Given the description of an element on the screen output the (x, y) to click on. 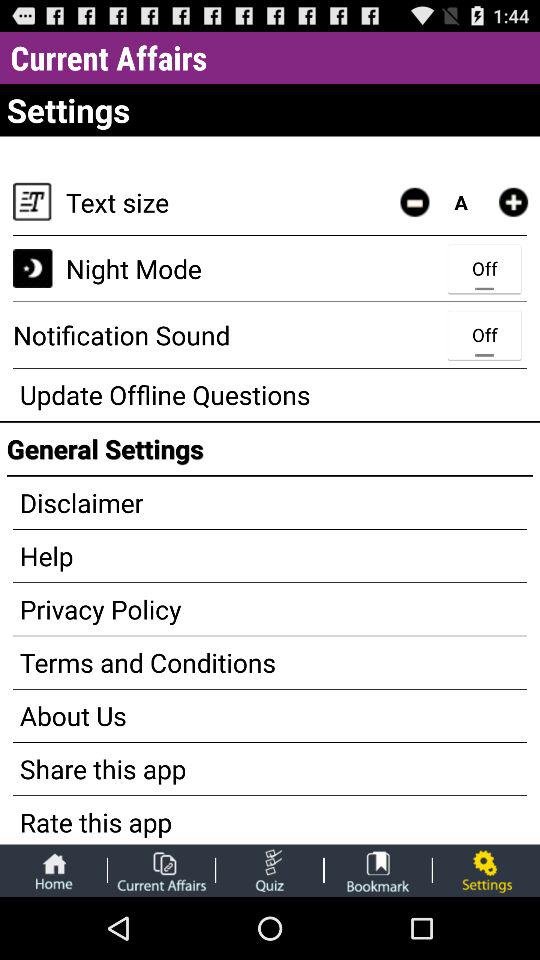
go to settings (486, 870)
